Given the description of an element on the screen output the (x, y) to click on. 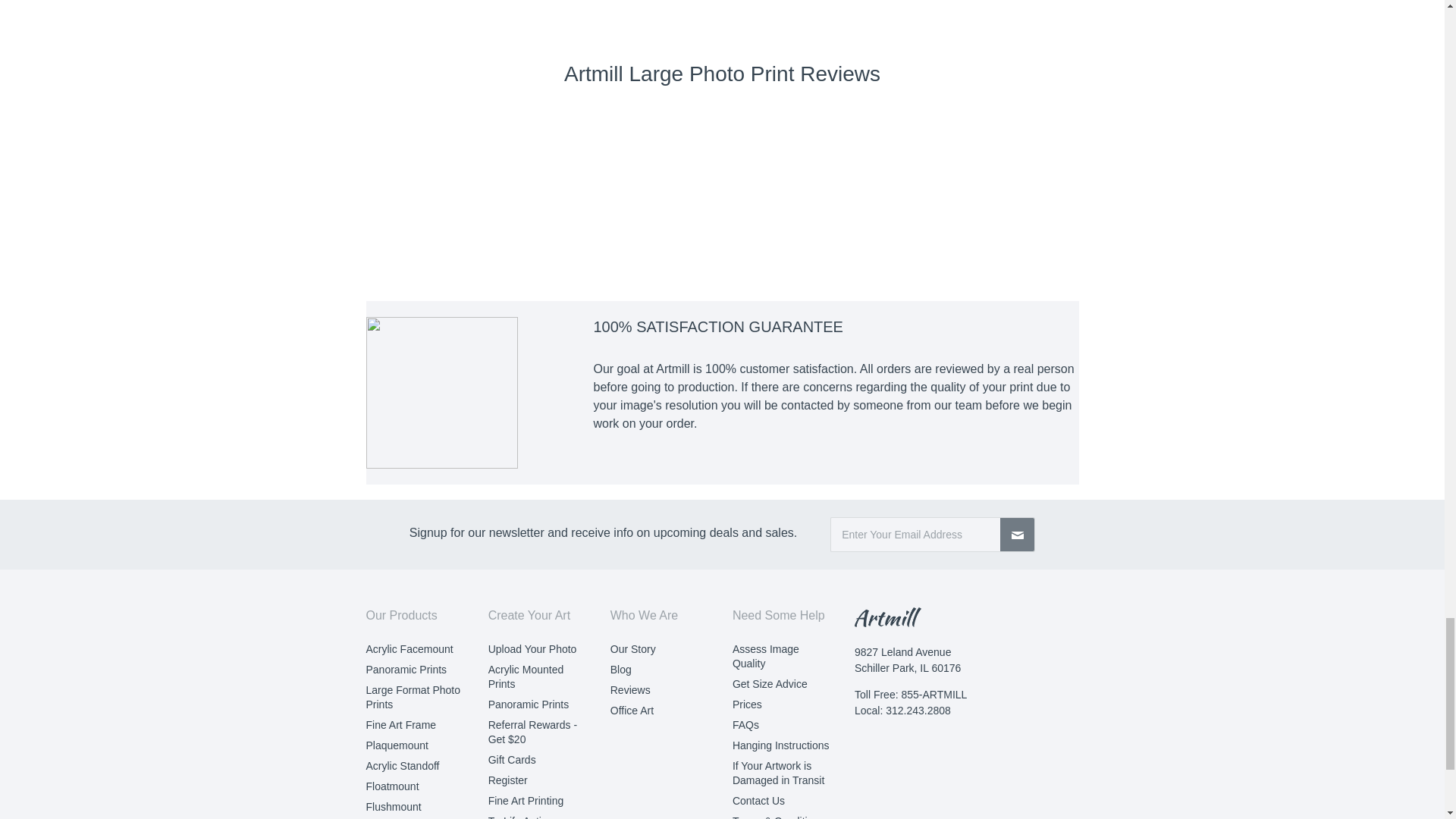
Submit (1017, 534)
Submit (1017, 534)
Acrylic Facemount (408, 649)
